Given the description of an element on the screen output the (x, y) to click on. 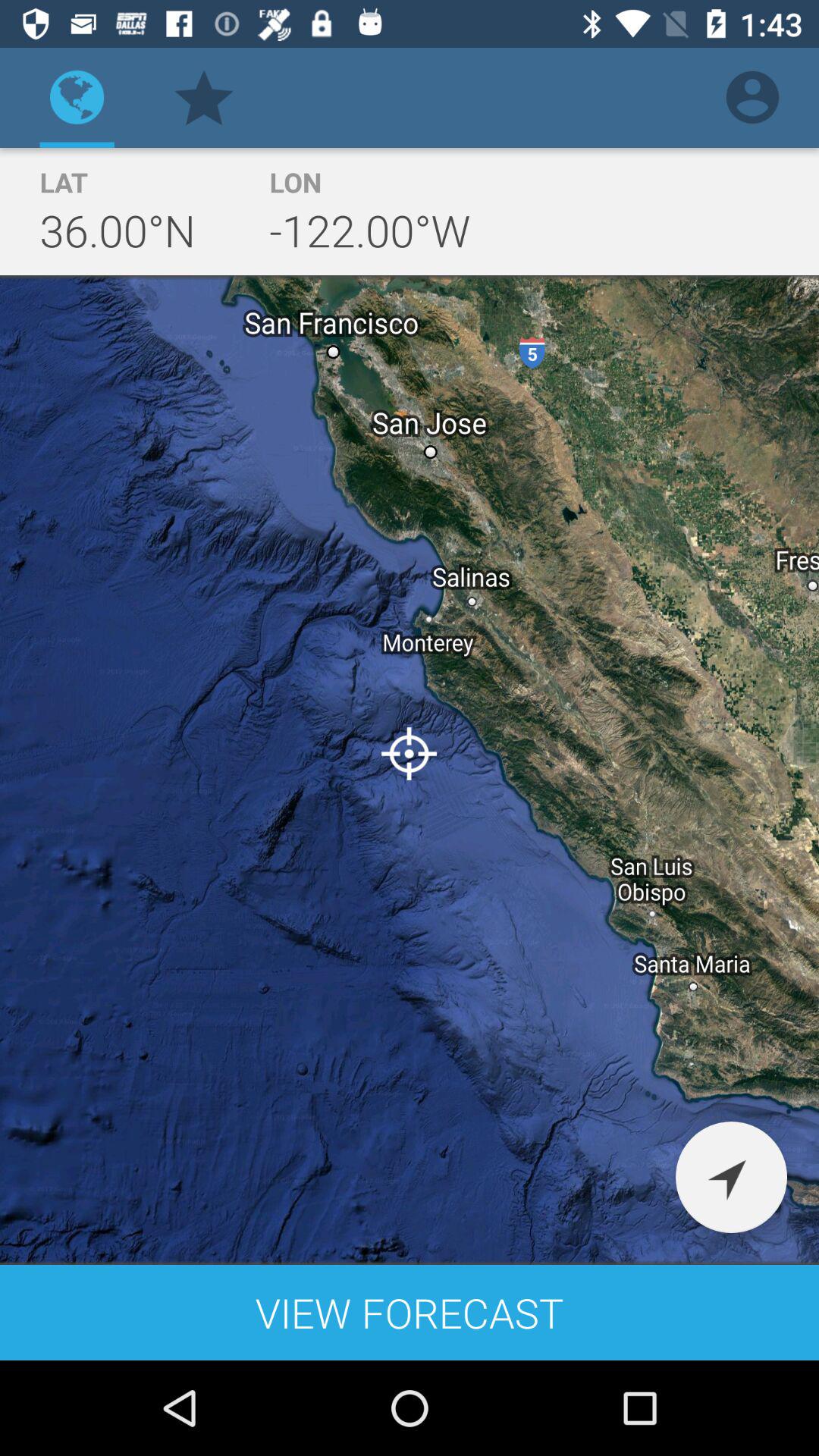
turn on the view forecast icon (409, 1312)
